Given the description of an element on the screen output the (x, y) to click on. 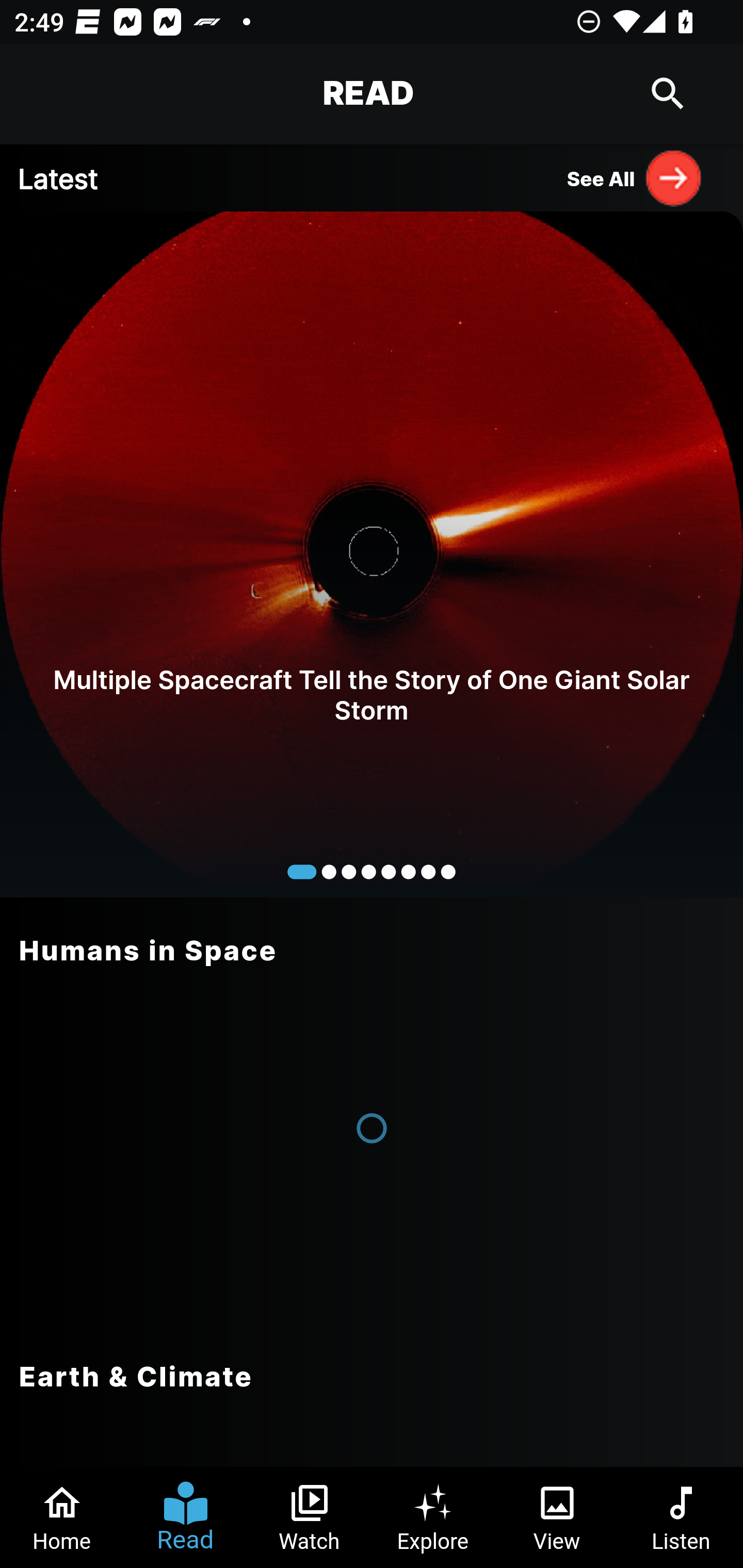
See All (634, 177)
Home
Tab 1 of 6 (62, 1517)
Read
Tab 2 of 6 (185, 1517)
Watch
Tab 3 of 6 (309, 1517)
Explore
Tab 4 of 6 (433, 1517)
View
Tab 5 of 6 (556, 1517)
Listen
Tab 6 of 6 (680, 1517)
